Given the description of an element on the screen output the (x, y) to click on. 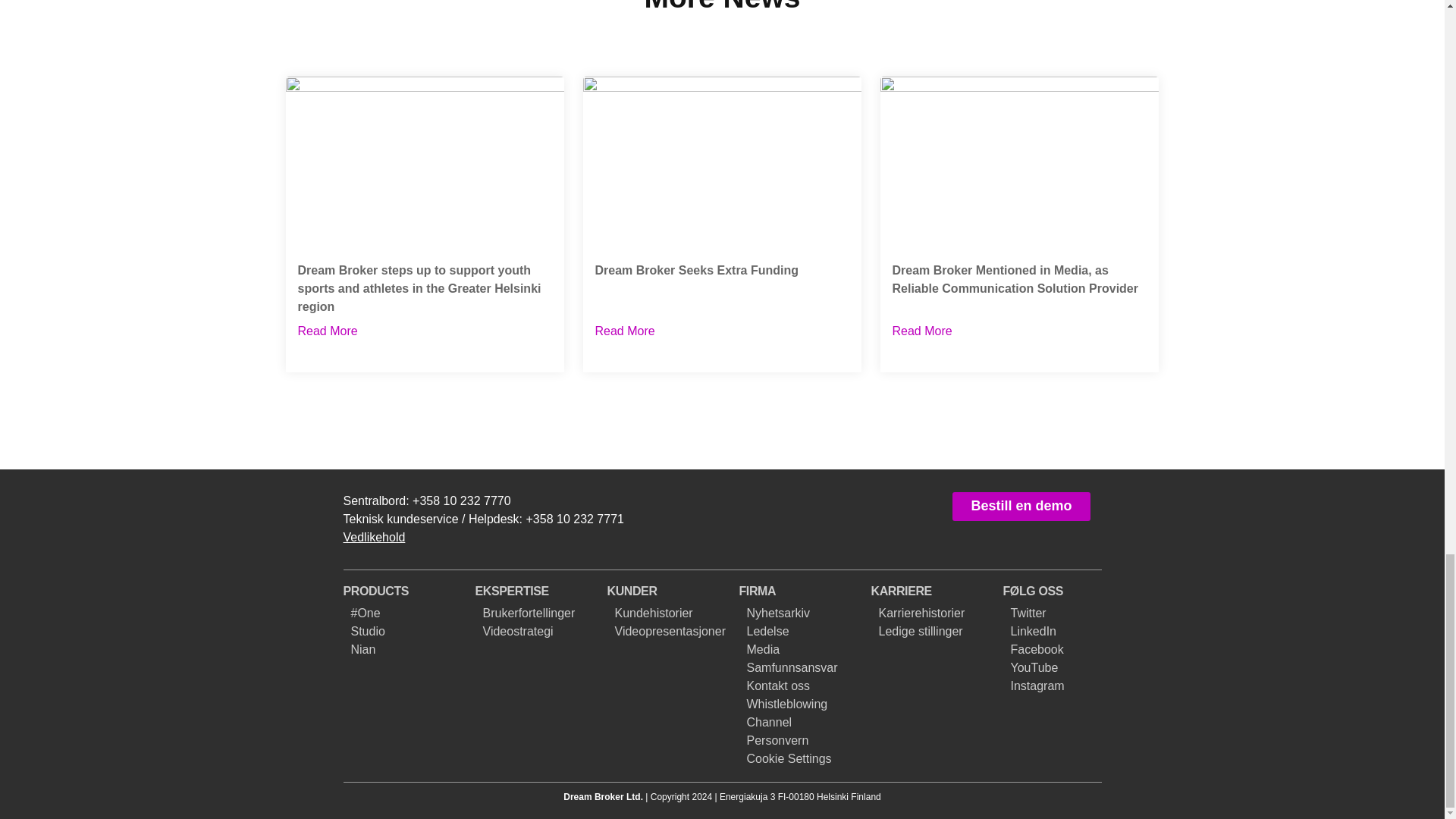
Read More (921, 330)
Read More (326, 330)
Bestill en demo (1020, 506)
Read More (623, 330)
PRODUCTS (721, 224)
Vedlikehold (375, 590)
